Given the description of an element on the screen output the (x, y) to click on. 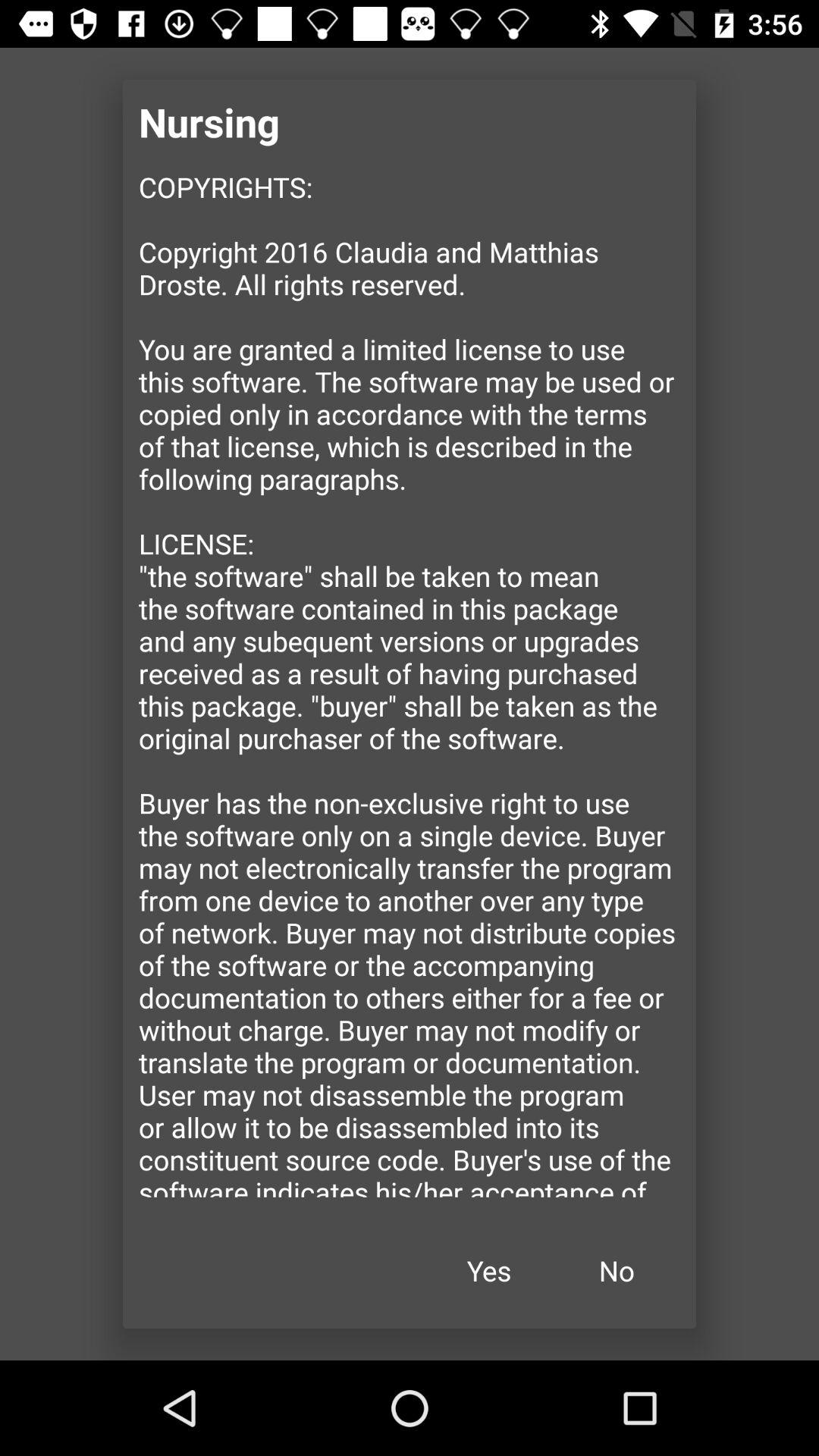
scroll until no item (616, 1270)
